Given the description of an element on the screen output the (x, y) to click on. 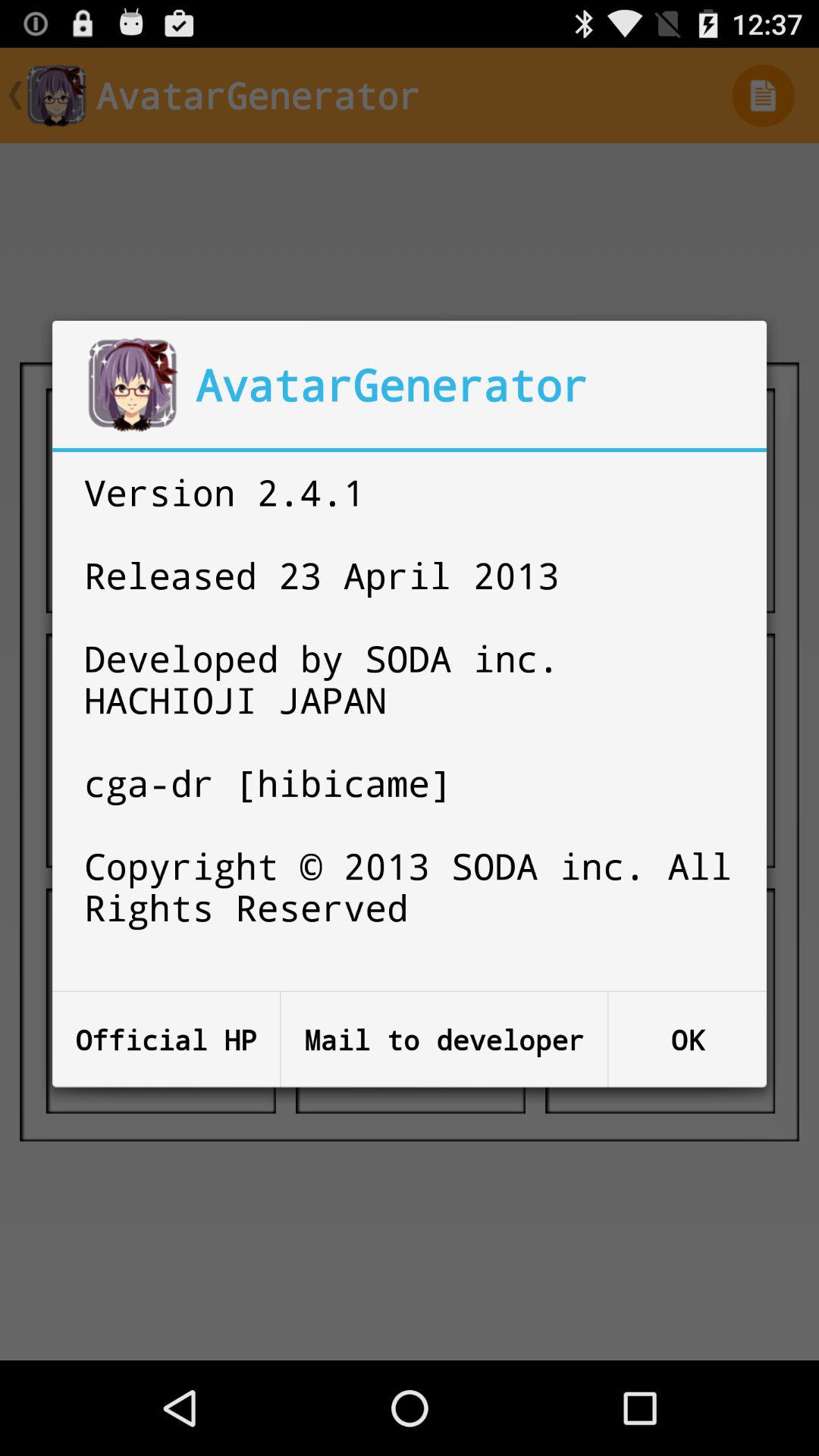
turn on ok item (687, 1039)
